Given the description of an element on the screen output the (x, y) to click on. 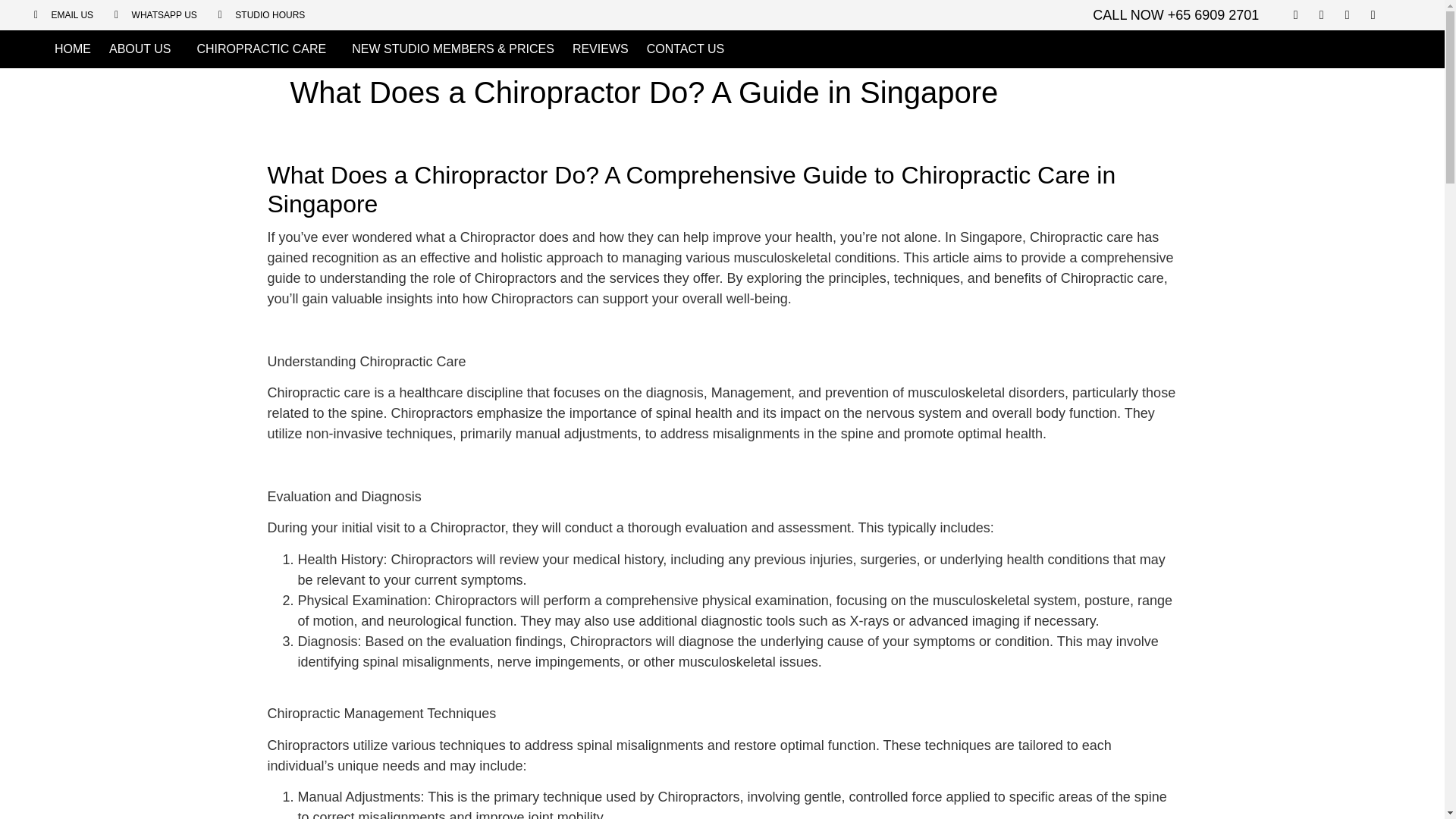
WHATSAPP US (155, 14)
STUDIO HOURS (261, 14)
CHIROPRACTIC CARE (265, 49)
ABOUT US (143, 49)
EMAIL US (63, 14)
CONTACT US (685, 49)
HOME (72, 49)
REVIEWS (600, 49)
